Given the description of an element on the screen output the (x, y) to click on. 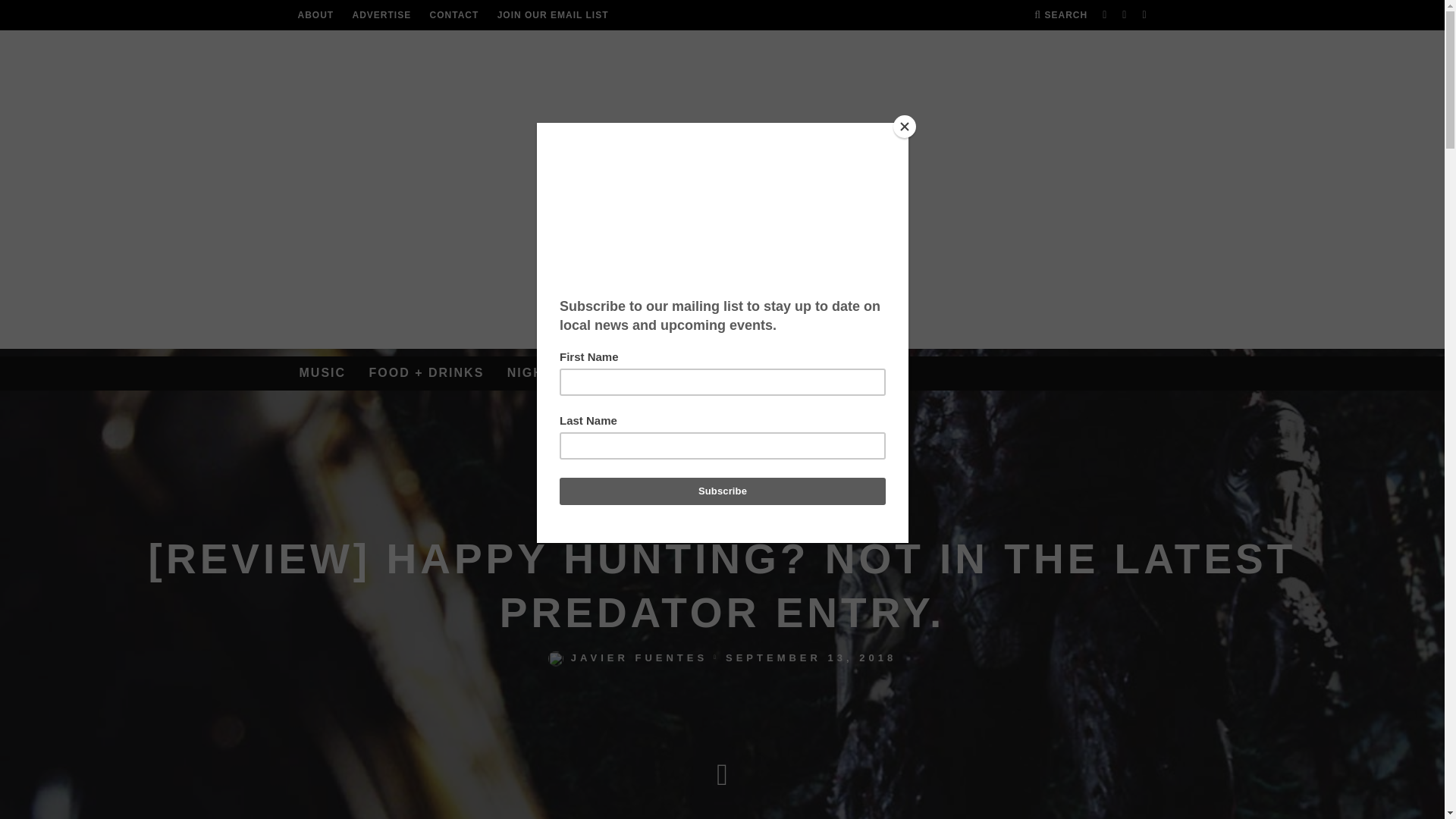
Search (1060, 15)
JOIN OUR EMAIL LIST (552, 15)
CONTACT (454, 15)
ABOUT (315, 15)
SEARCH (1060, 15)
ADVERTISE (382, 15)
